Given the description of an element on the screen output the (x, y) to click on. 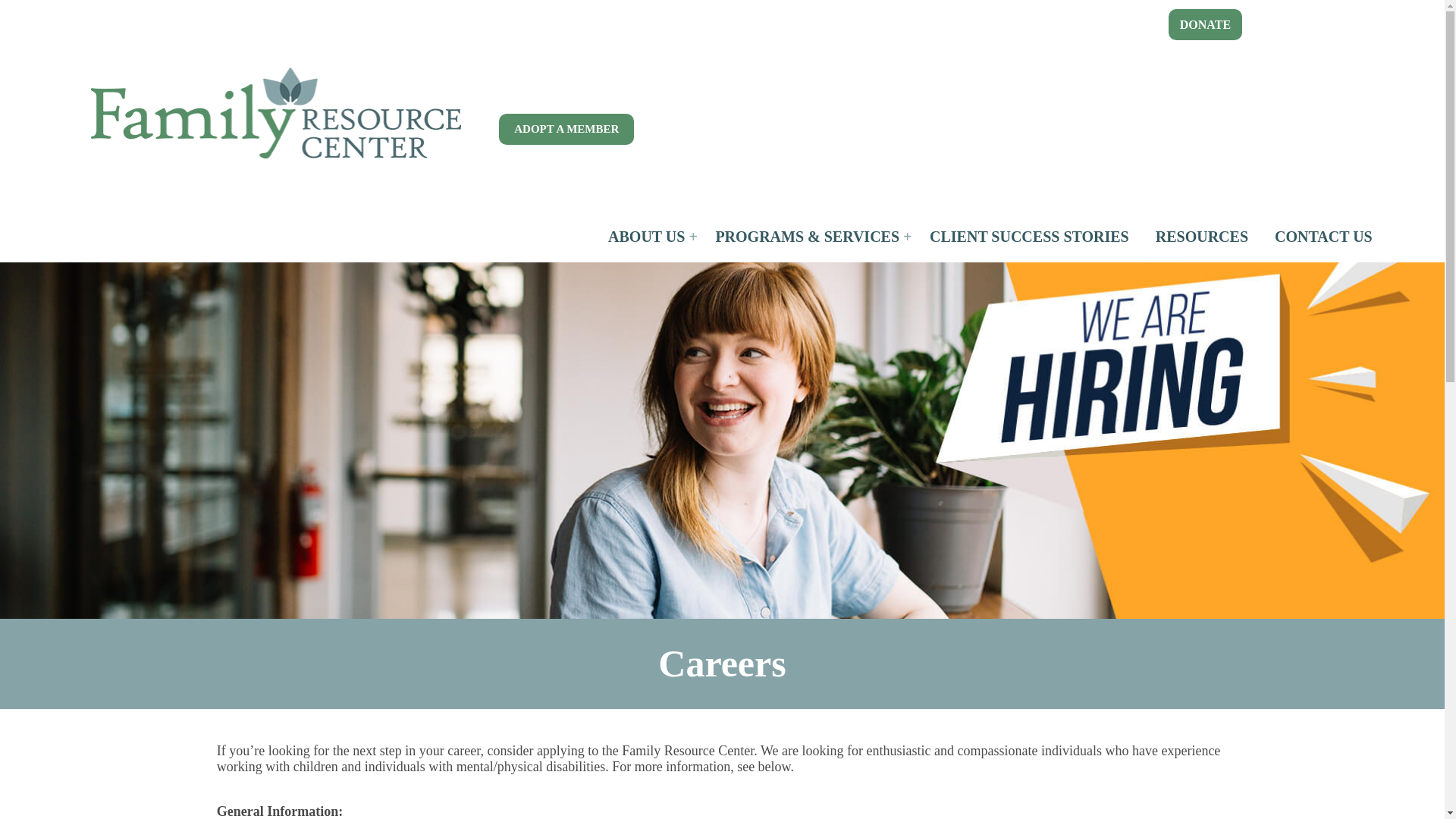
DONATE (1205, 24)
Client Success Stories (1029, 236)
CONTACT US (1324, 236)
ABOUT US (648, 236)
About Us (648, 236)
712-792-6440 (1326, 20)
CLIENT SUCCESS STORIES (1029, 236)
APPLY FOR SERVICES (567, 21)
ADOPT A MEMBER (566, 128)
WHY ASK FOR HELP? (142, 21)
